Given the description of an element on the screen output the (x, y) to click on. 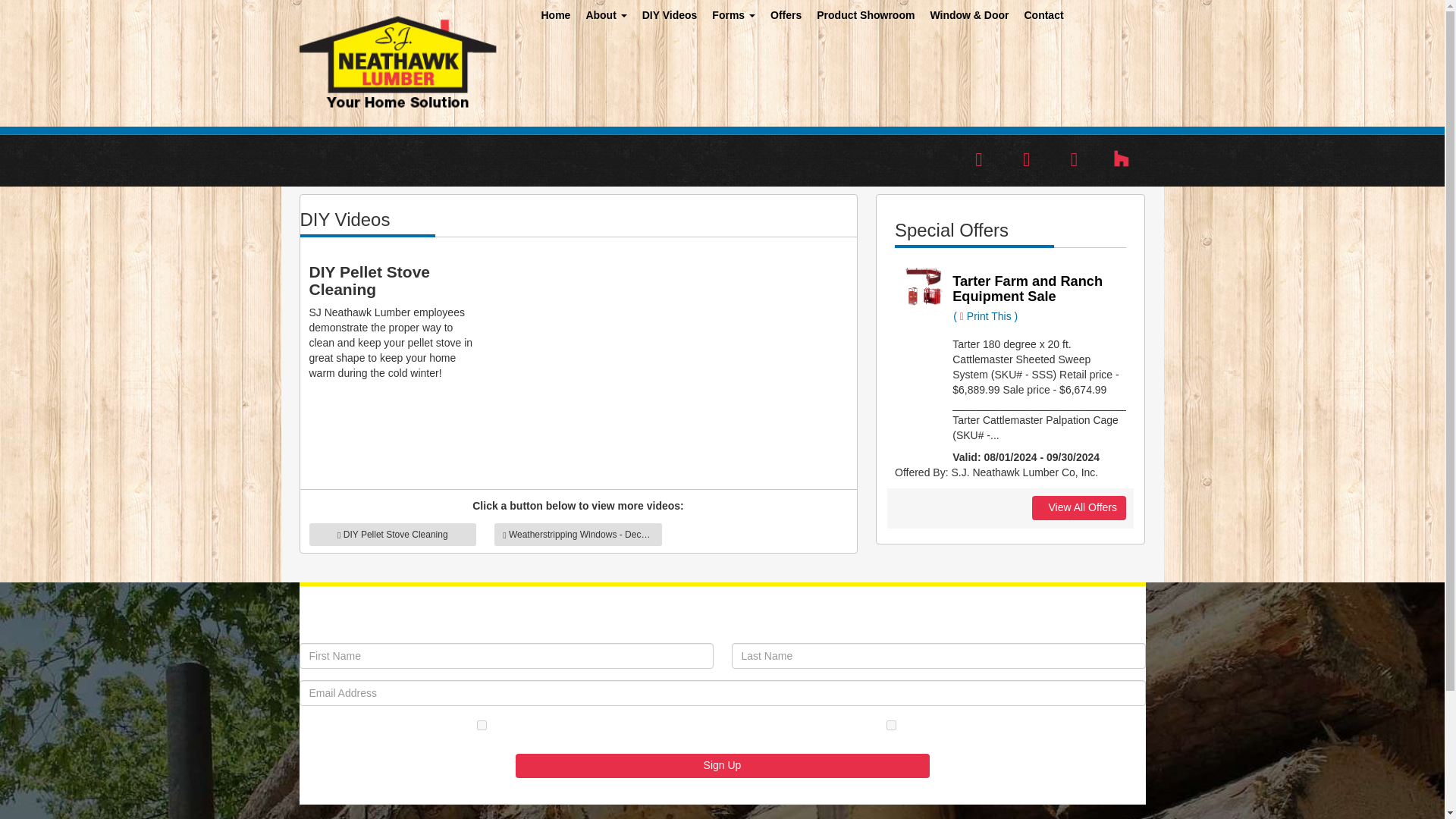
Weatherstripping Windows - December DIY (578, 534)
Contact (1043, 18)
Product Showroom (865, 18)
facebook (978, 158)
Tarter Farm and Ranch Equipment Sale (1027, 288)
View our Email Archive (722, 796)
houzz (1121, 158)
Forms (733, 18)
2 (891, 725)
instagram (1074, 158)
